Given the description of an element on the screen output the (x, y) to click on. 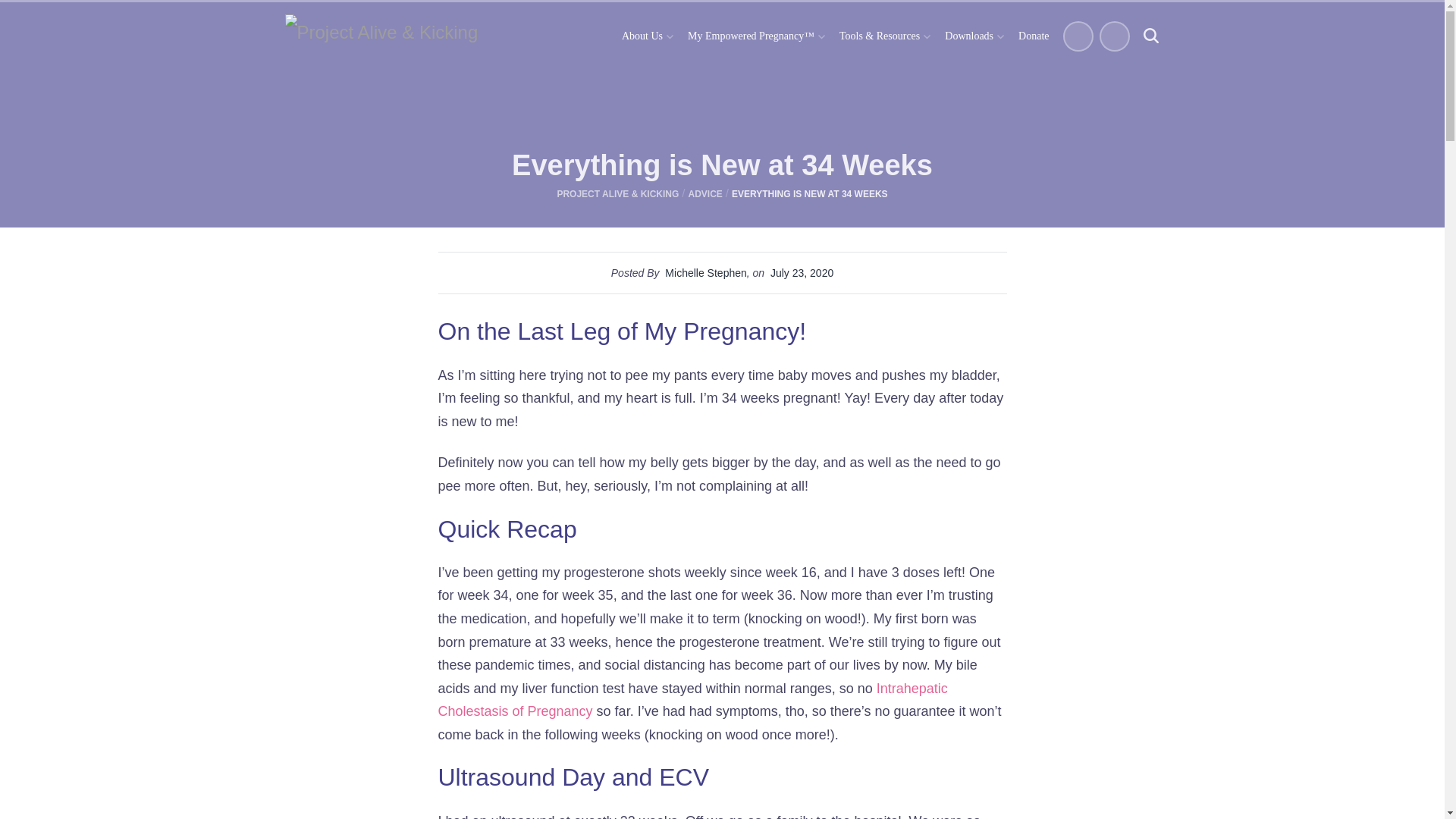
Intrahepatic Cholestasis of Pregnancy (692, 699)
Donate (1033, 36)
ADVICE (704, 194)
Go to the Advice category archives. (704, 194)
GET IOS APP (1078, 36)
About Us (646, 36)
Downloads (973, 36)
GET ANDROID APP (1114, 36)
